Given the description of an element on the screen output the (x, y) to click on. 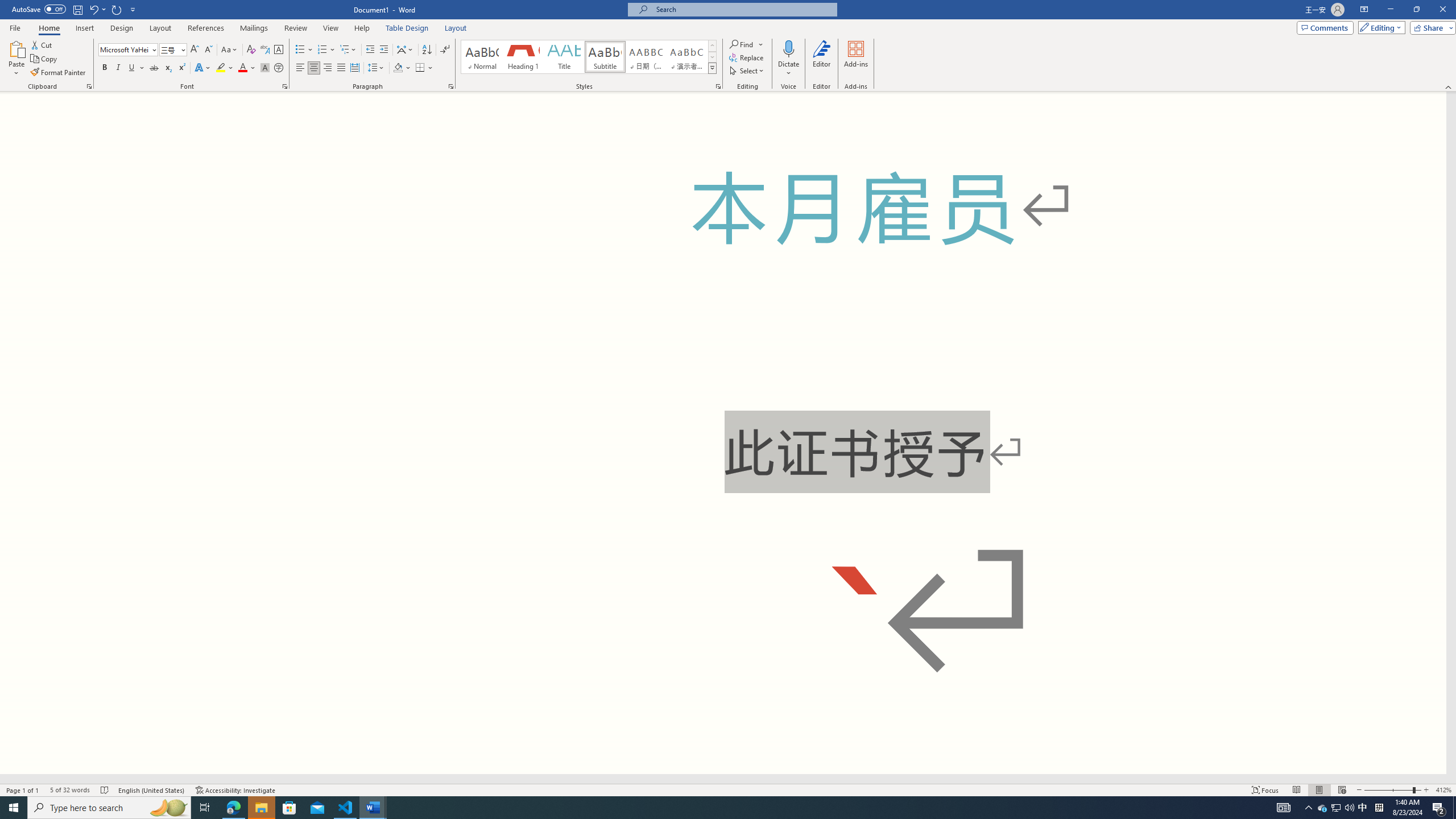
Format Painter (58, 72)
AutomationID: QuickStylesGallery (588, 56)
Language English (United States) (152, 790)
